Given the description of an element on the screen output the (x, y) to click on. 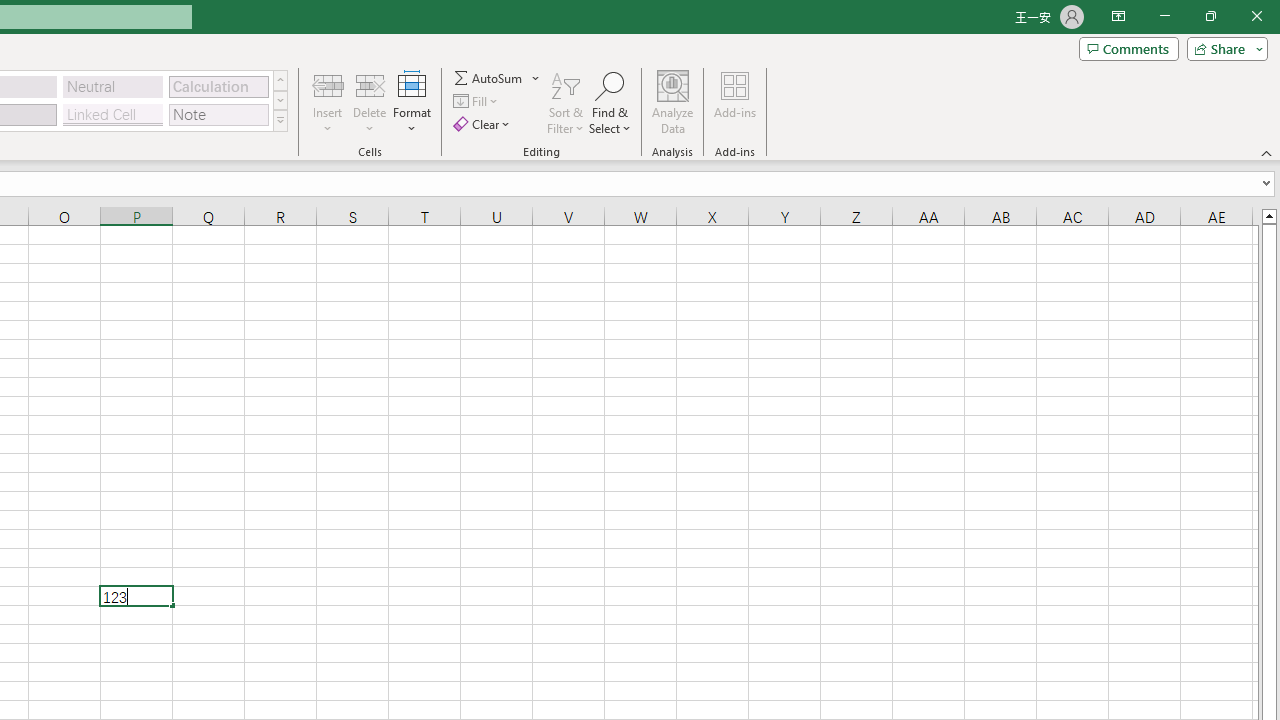
Delete Cells... (369, 84)
Delete (369, 102)
Cell Styles (280, 120)
